Given the description of an element on the screen output the (x, y) to click on. 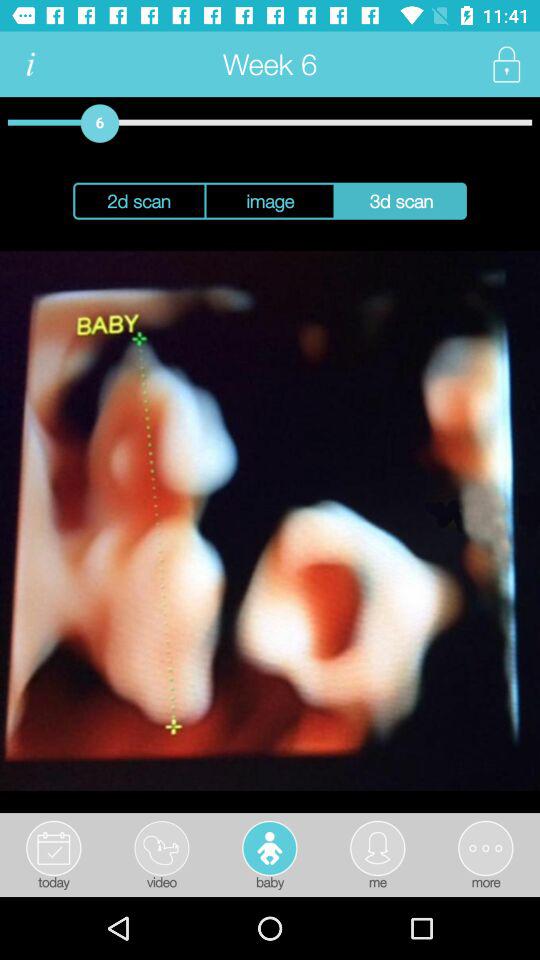
scroll until 2d scan icon (138, 200)
